Given the description of an element on the screen output the (x, y) to click on. 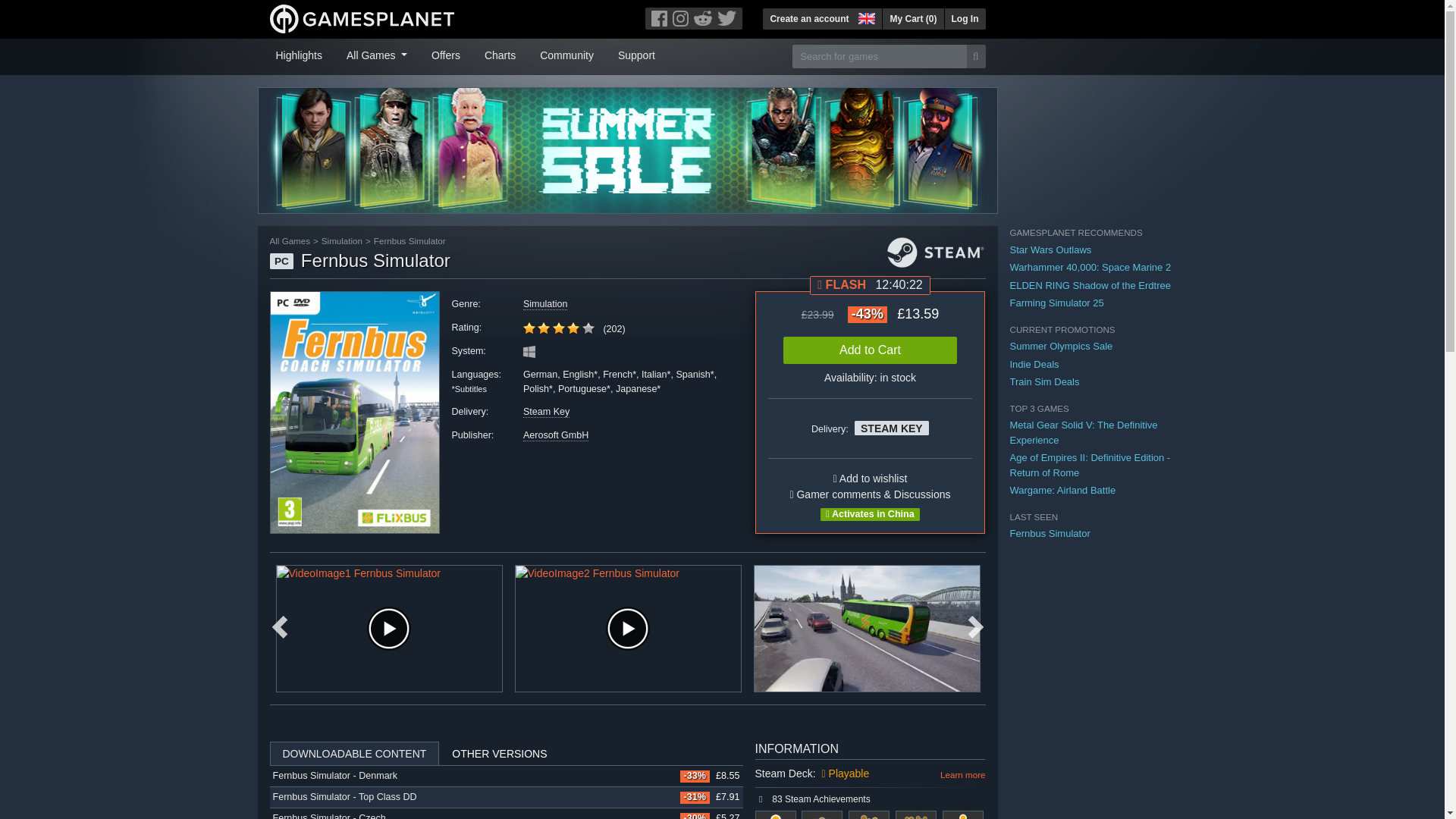
regular (528, 328)
Achievement: Got to see them all (822, 814)
Log In (964, 18)
All Games (376, 53)
Achievement: So, this is my hood (775, 814)
regular (573, 328)
Highlights (299, 53)
regular (588, 328)
Achievement: Well, where haven't I been to? (963, 814)
regular (558, 327)
